Given the description of an element on the screen output the (x, y) to click on. 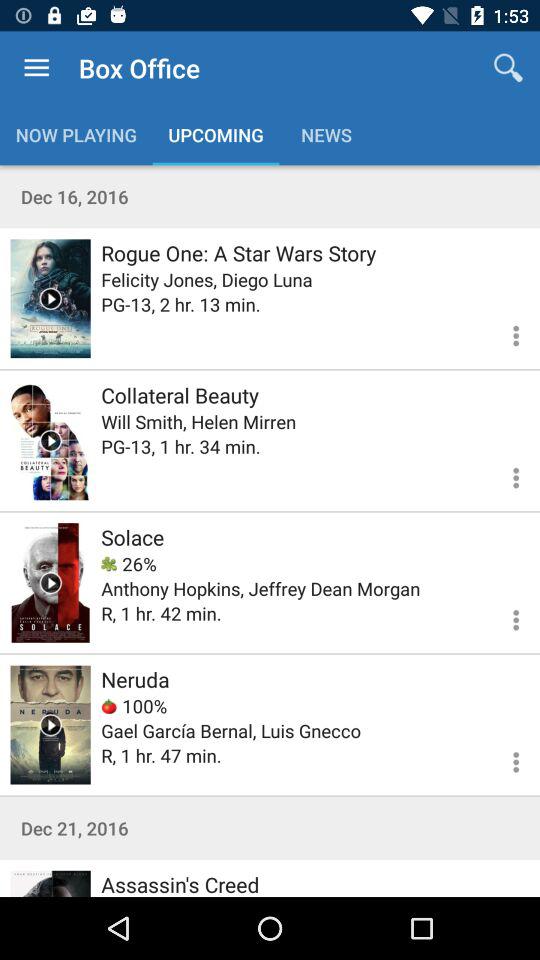
play video (50, 582)
